Given the description of an element on the screen output the (x, y) to click on. 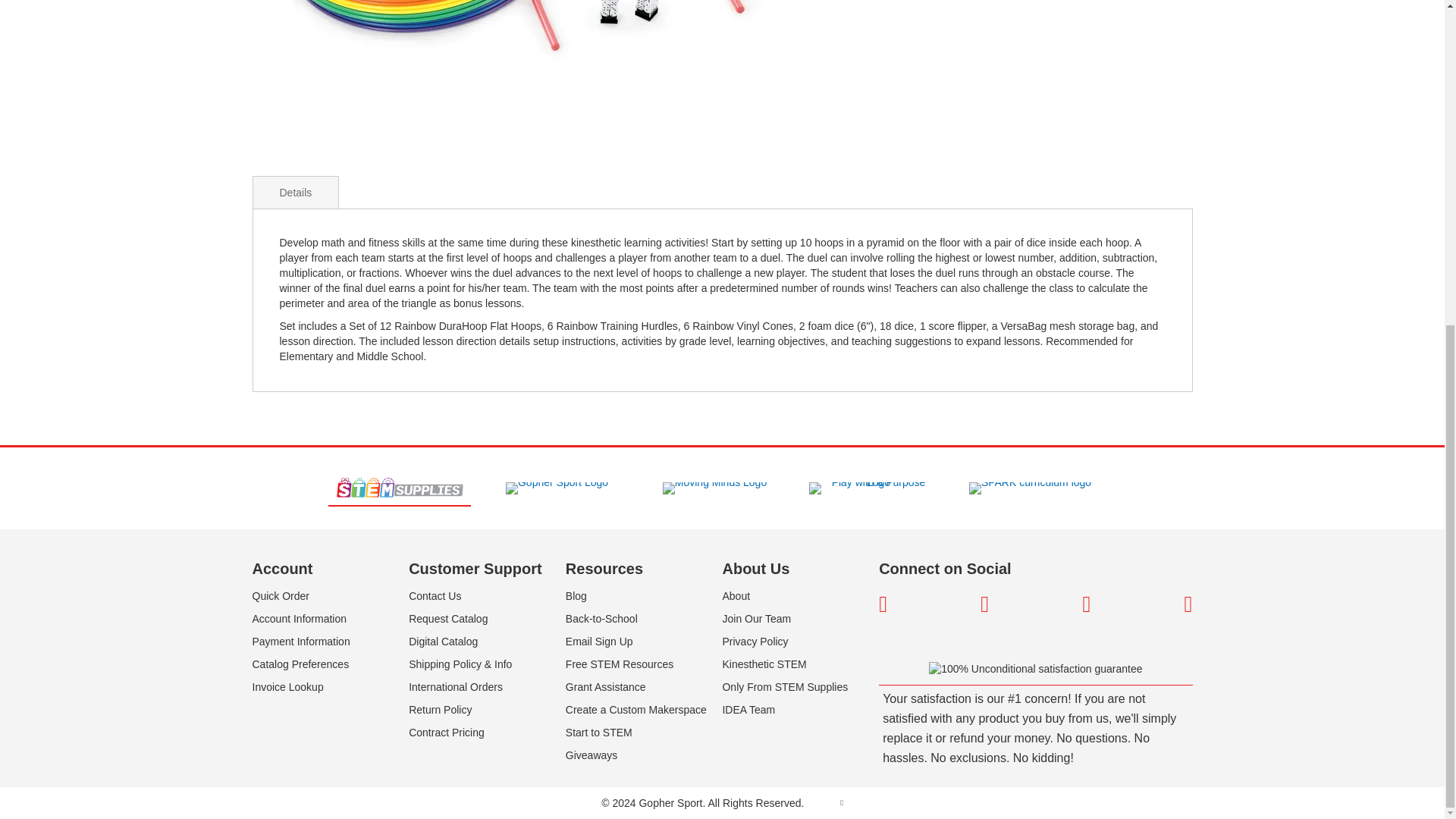
SPARK curriculum (1029, 488)
Play with a Purpose (872, 488)
Moving Minds (714, 488)
Stem Supplies (398, 487)
Moving Minds (714, 488)
Gopher Sport (556, 488)
Play with a Purpose (871, 488)
Stem Supplies (398, 488)
Gopher Sport (556, 488)
SPARK curriculum (1029, 488)
